Given the description of an element on the screen output the (x, y) to click on. 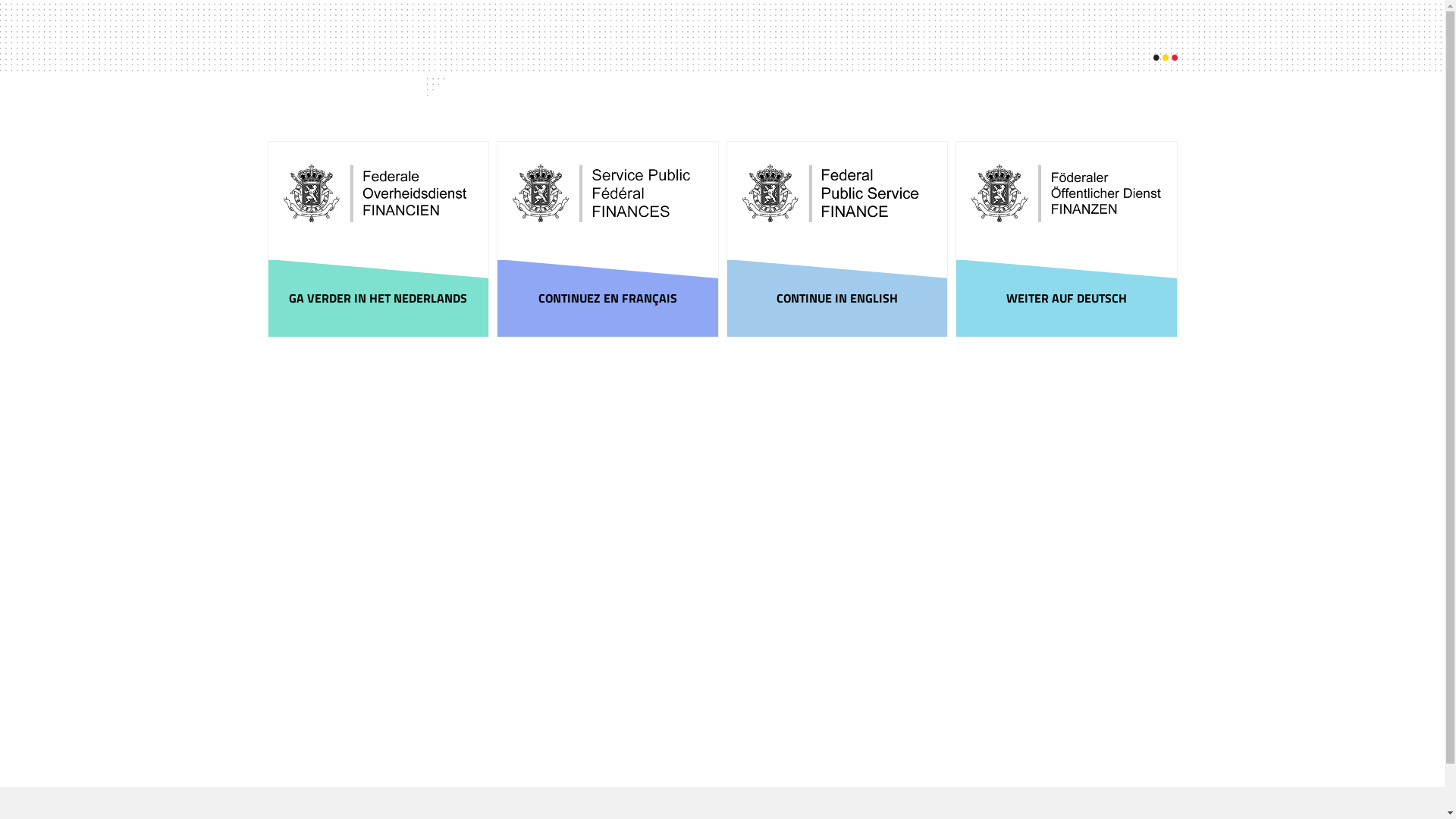
CONTINUE IN ENGLISH Element type: text (836, 298)
WEITER AUF DEUTSCH Element type: text (1066, 298)
GA VERDER IN HET NEDERLANDS Element type: text (378, 298)
